Given the description of an element on the screen output the (x, y) to click on. 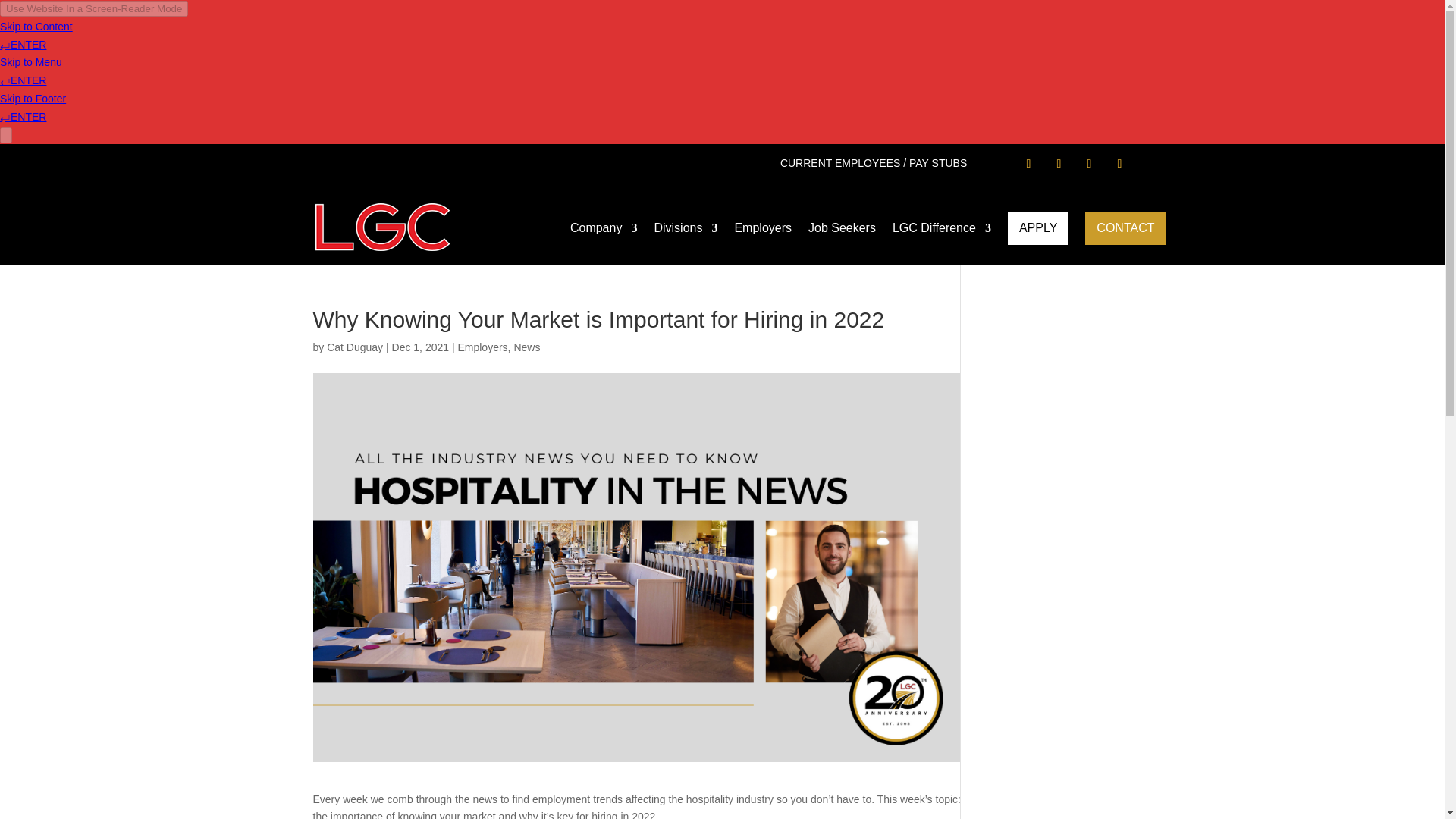
CONTACT (1125, 227)
Follow on TikTok (1088, 163)
Follow on Facebook (1028, 163)
Job Seekers (842, 233)
Company (603, 233)
Employers (762, 233)
top (382, 227)
Divisions (685, 233)
Follow on Instagram (1058, 163)
Follow on LinkedIn (1118, 163)
APPLY (1037, 227)
LGC Difference (941, 233)
Posts by Cat Duguay (354, 346)
